Given the description of an element on the screen output the (x, y) to click on. 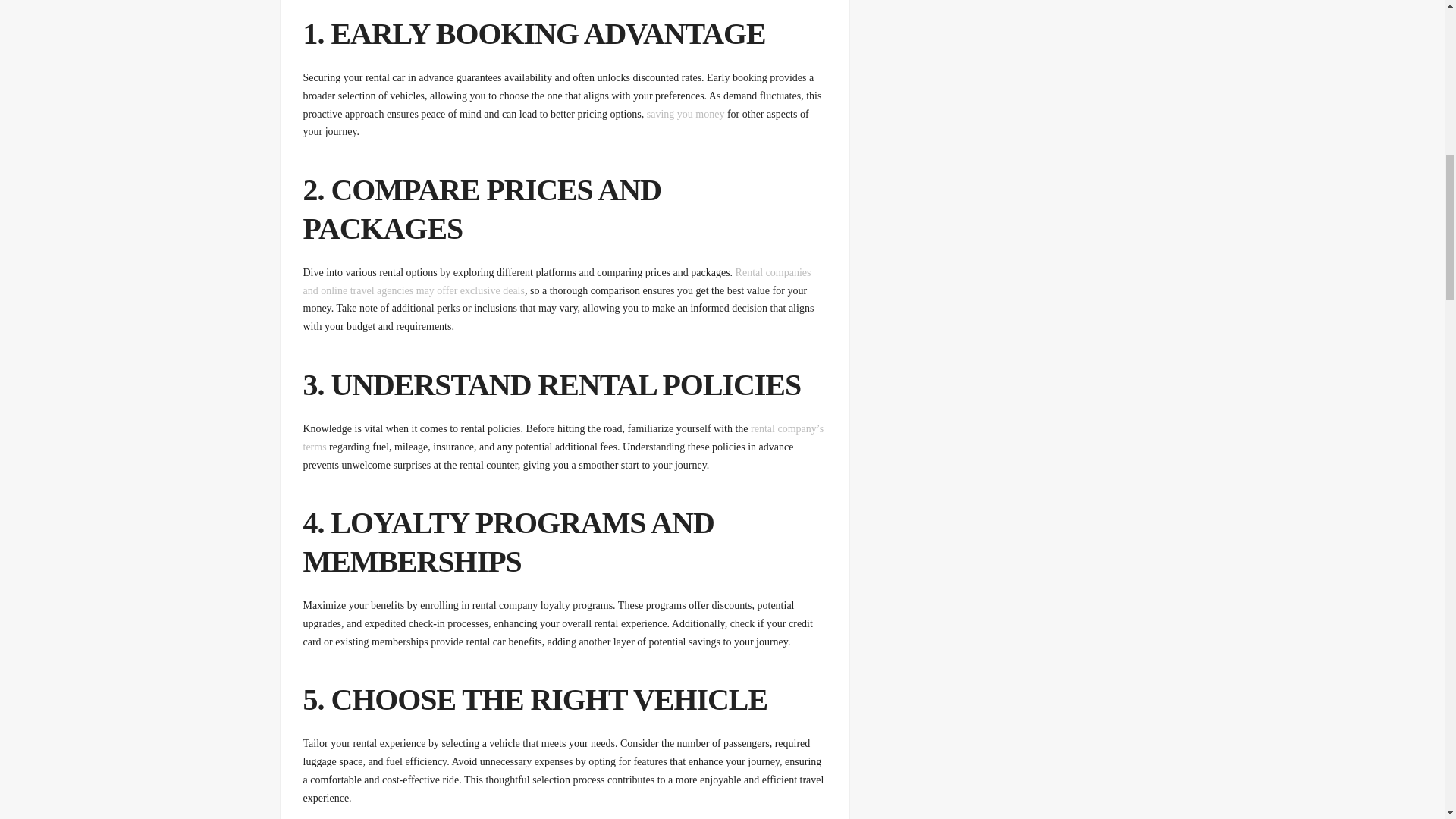
saving you money (685, 113)
